Given the description of an element on the screen output the (x, y) to click on. 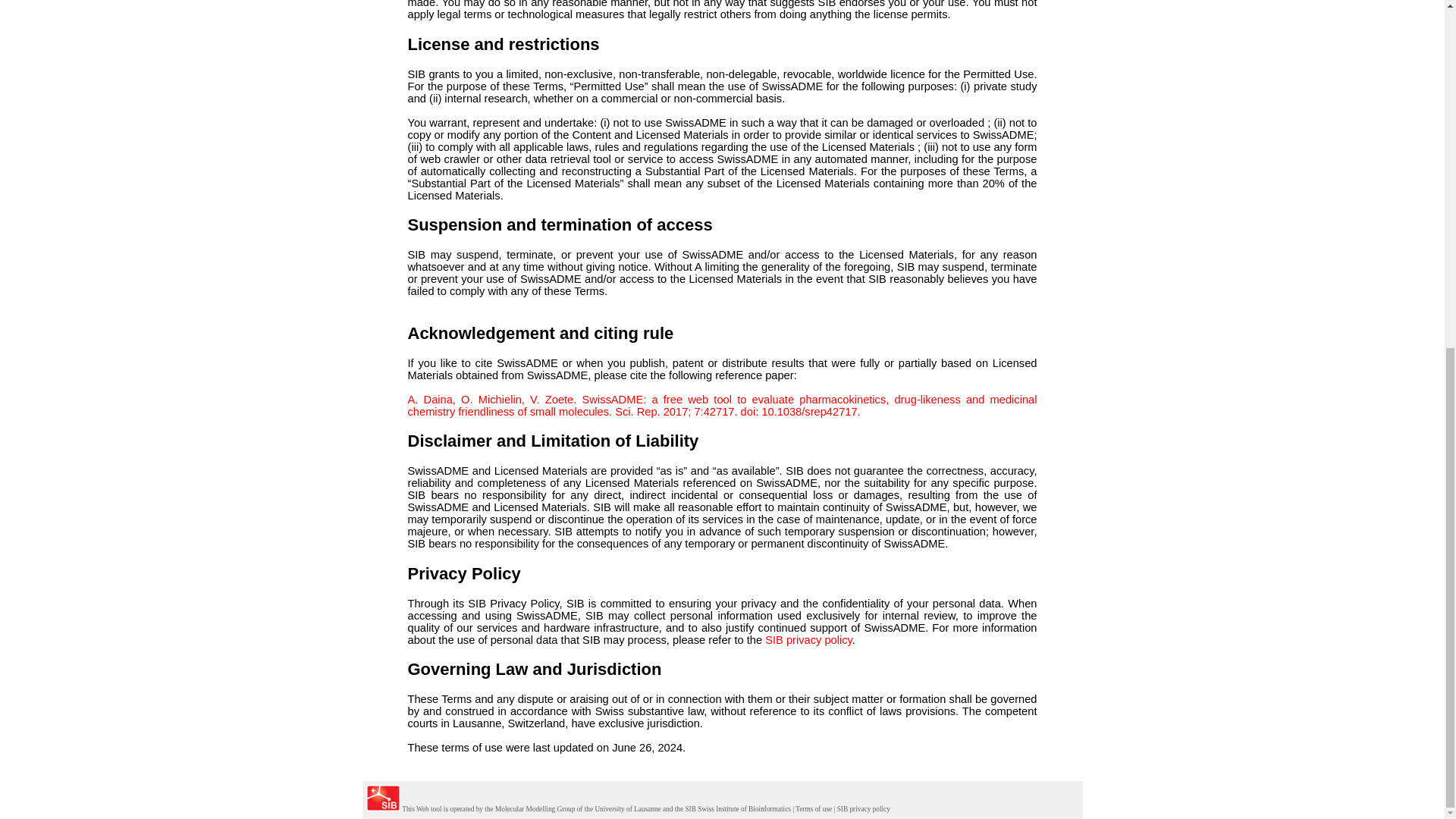
Terms of use (812, 809)
SIB Swiss Institute of Bioinformatics (737, 809)
Molecular Modelling Group (535, 809)
SIB privacy policy (863, 809)
University of Lausanne (627, 809)
SIB privacy policy (808, 639)
